Given the description of an element on the screen output the (x, y) to click on. 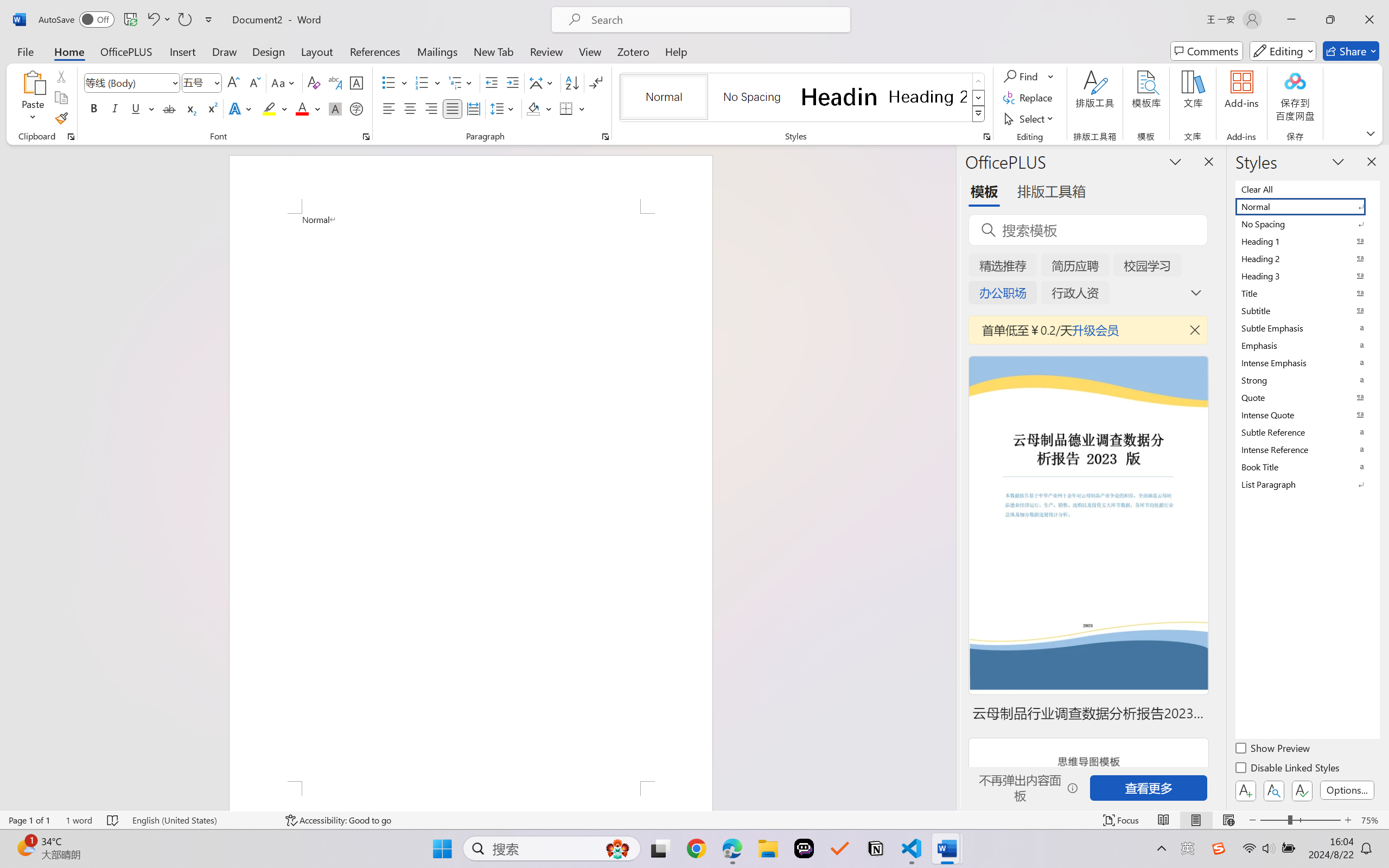
Zoom Out (1273, 819)
Customize Quick Access Toolbar (208, 19)
Subtle Reference (1306, 431)
Numbering (428, 82)
Emphasis (1306, 345)
Share (1350, 51)
Zotero (632, 51)
Styles (978, 113)
Restore Down (1330, 19)
Shading RGB(0, 0, 0) (533, 108)
Shading (539, 108)
Class: NetUIScrollBar (948, 477)
